Given the description of an element on the screen output the (x, y) to click on. 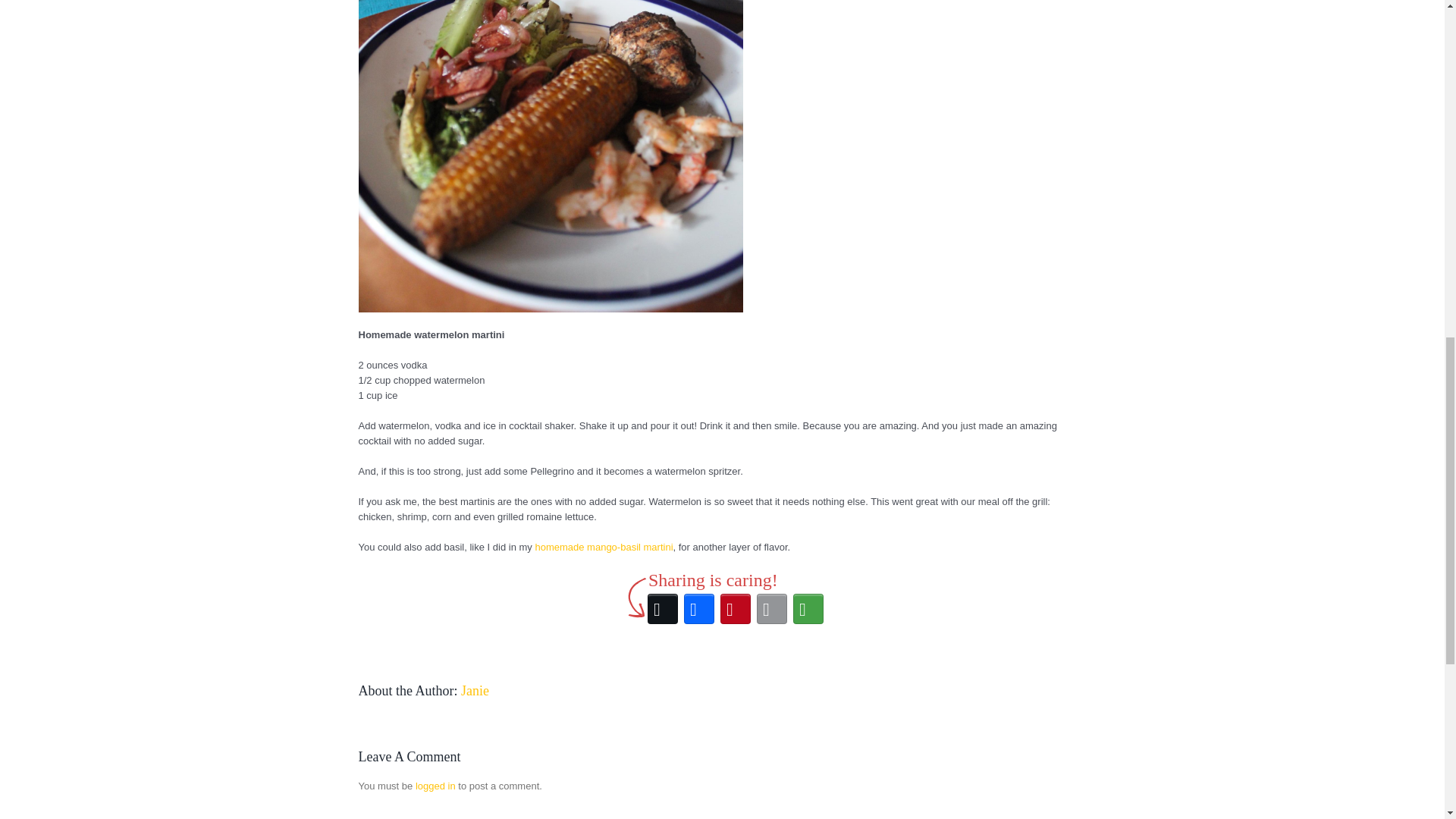
Facebook (699, 608)
homemade mango-basil martini (603, 546)
Pinterest (735, 608)
